Given the description of an element on the screen output the (x, y) to click on. 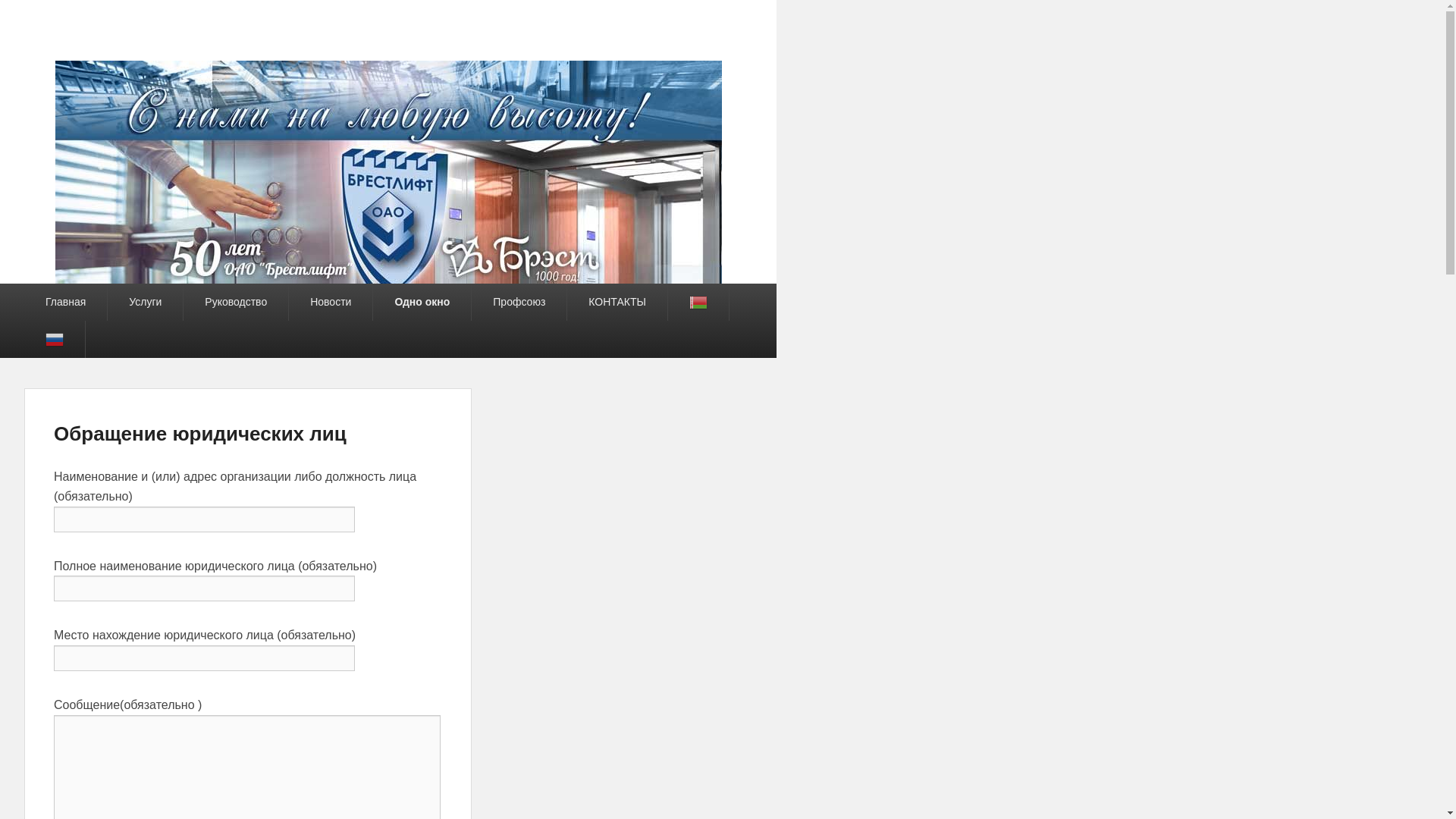
Russian Element type: hover (54, 338)
Belarusian Element type: hover (698, 301)
